Given the description of an element on the screen output the (x, y) to click on. 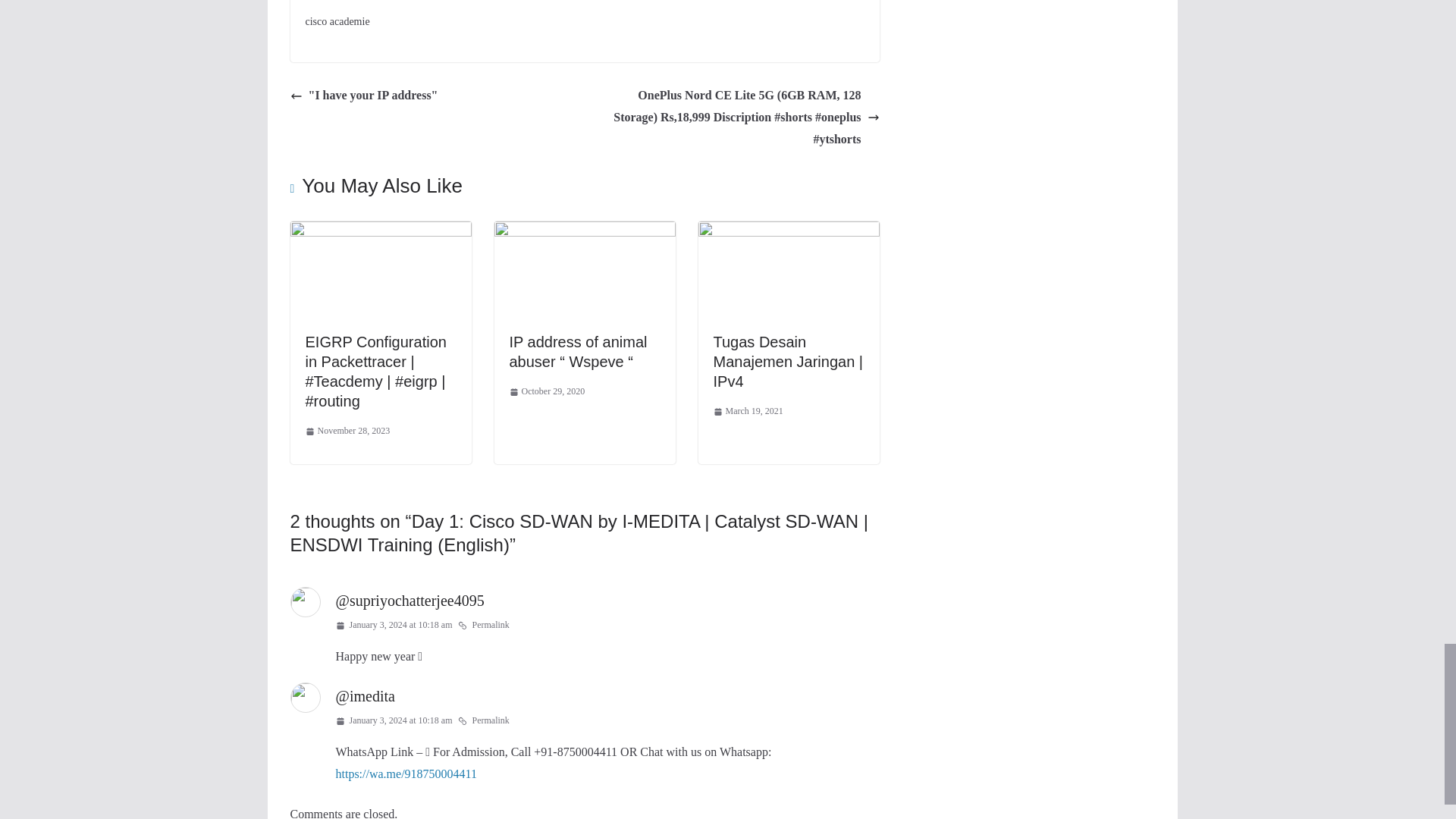
November 28, 2023 (347, 431)
3:09 pm (347, 431)
October 29, 2020 (547, 392)
"I have your IP address" (363, 96)
